Given the description of an element on the screen output the (x, y) to click on. 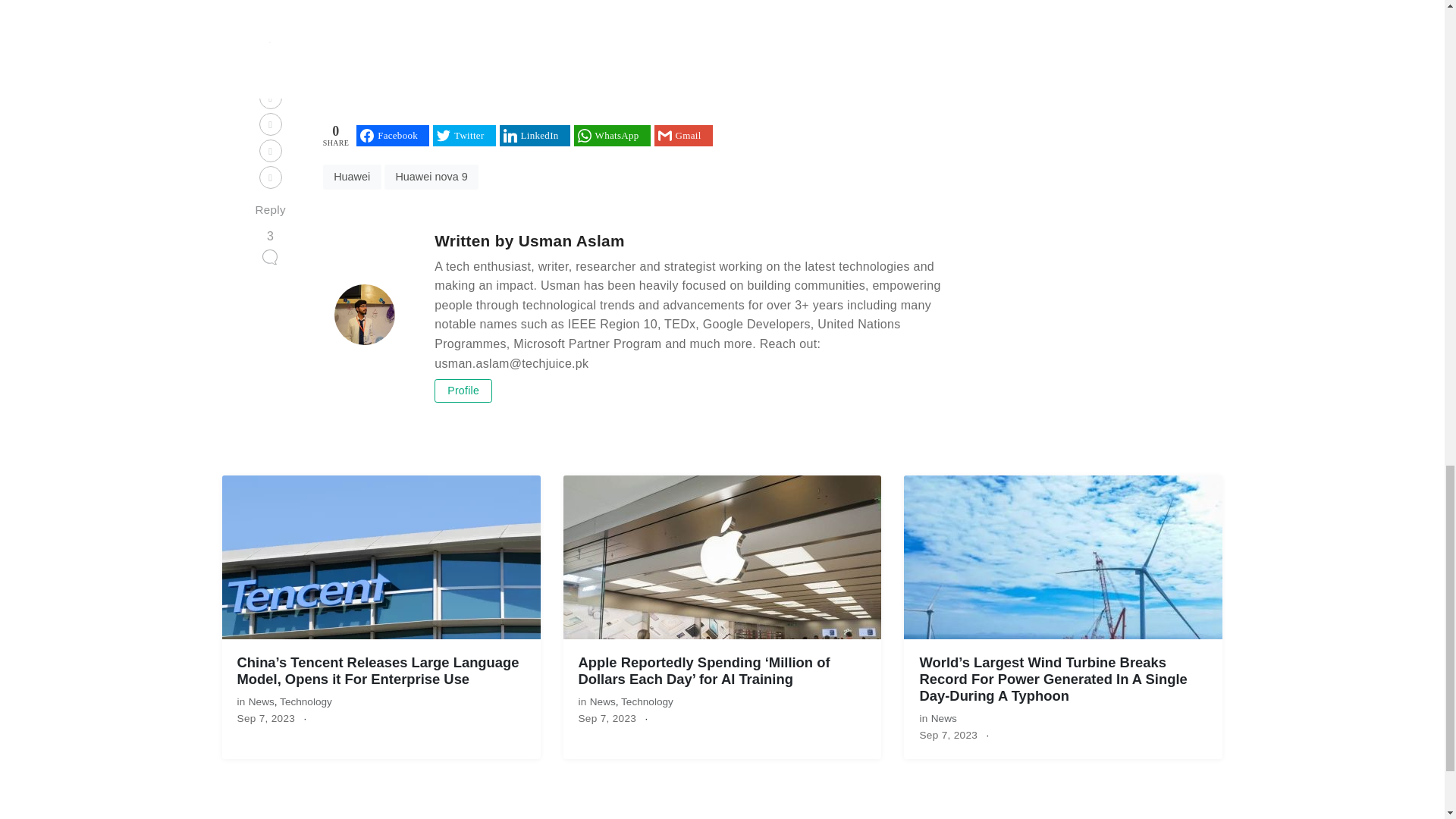
Share on Twitter (463, 135)
Share on Gmail (683, 135)
Share on LinkedIn (534, 135)
Share on WhatsApp (611, 135)
Share on Facebook (392, 135)
